Given the description of an element on the screen output the (x, y) to click on. 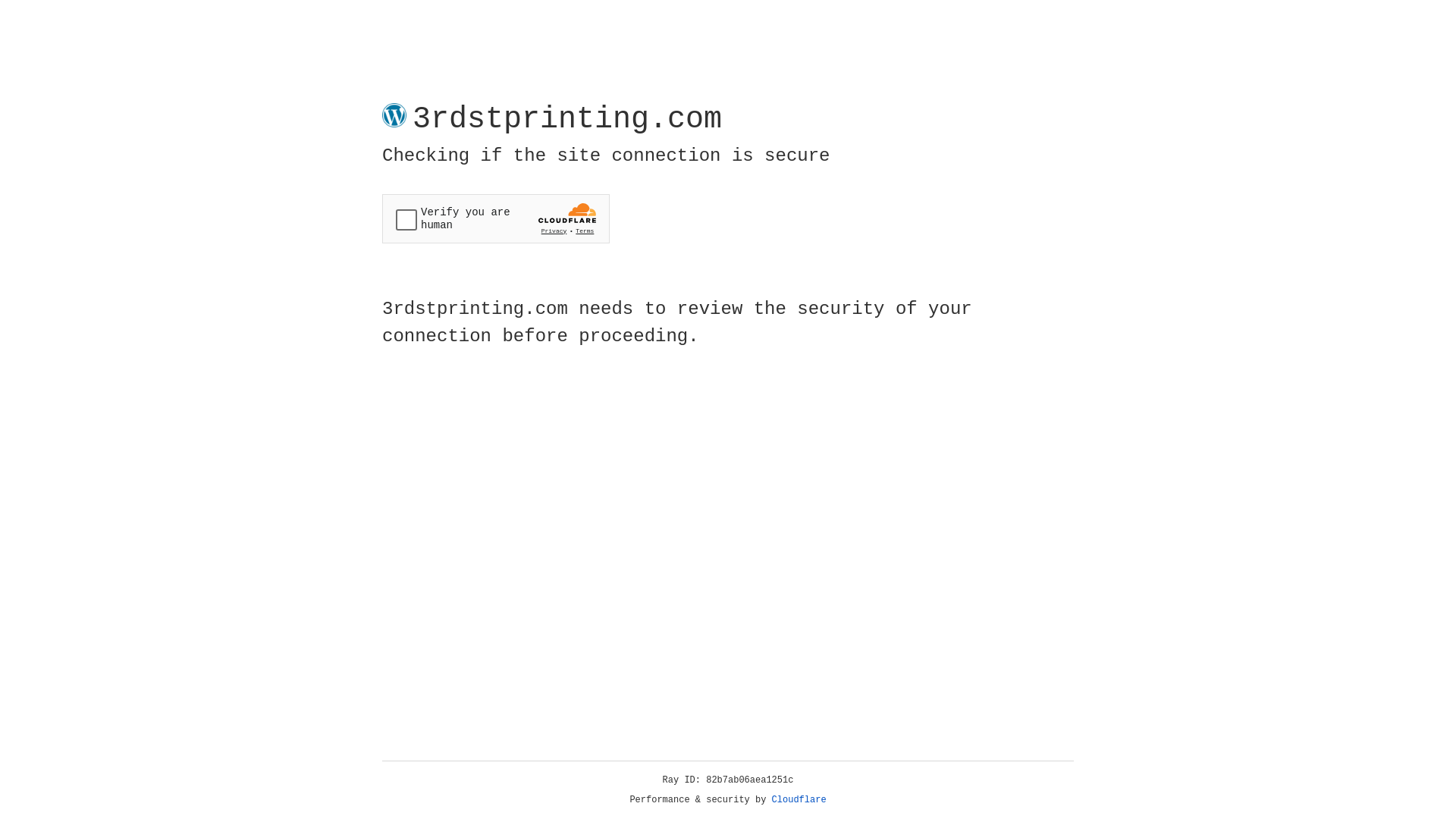
Widget containing a Cloudflare security challenge Element type: hover (495, 218)
Cloudflare Element type: text (798, 799)
